Given the description of an element on the screen output the (x, y) to click on. 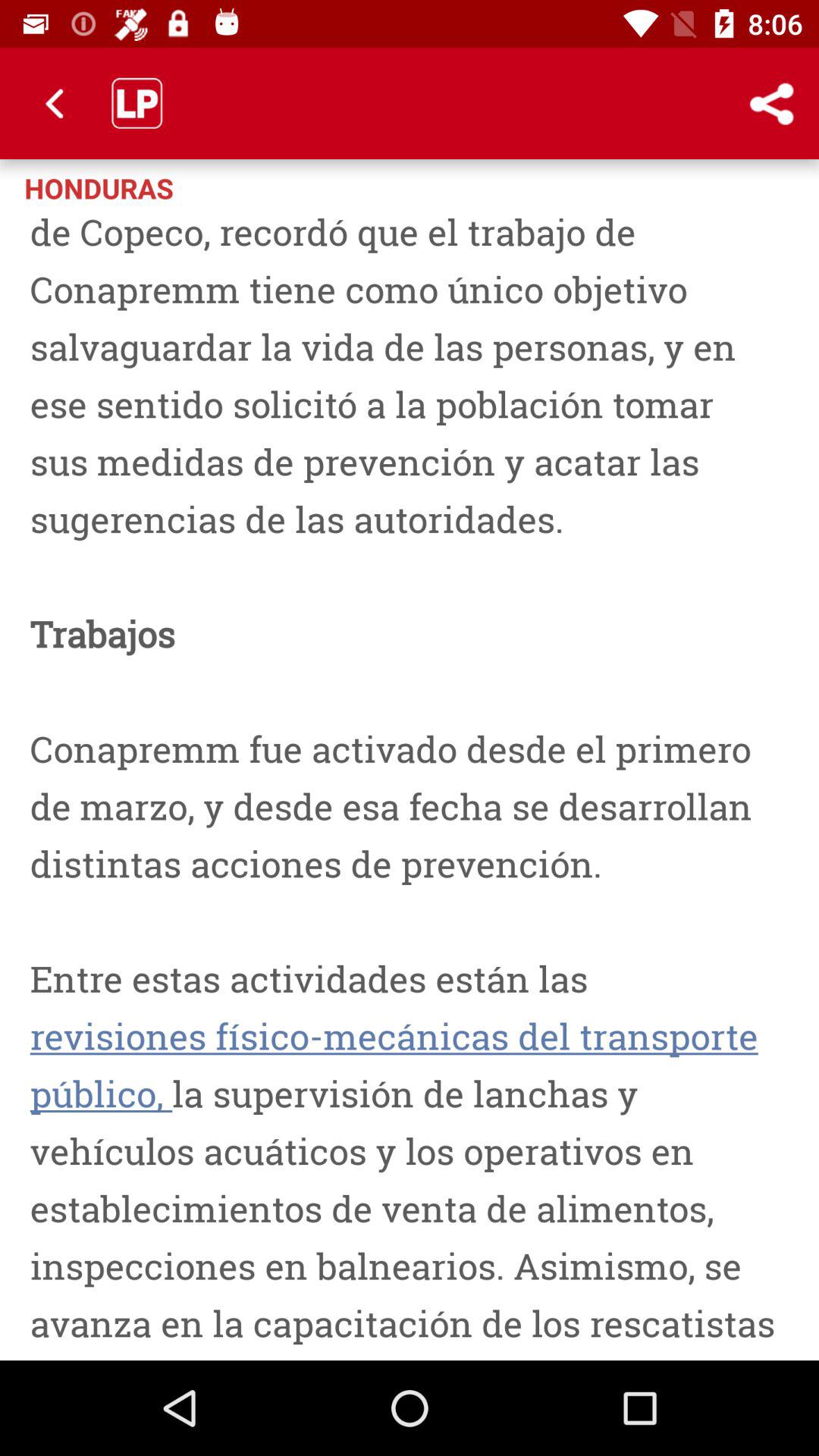
tap the icon next to honduras (771, 103)
